Given the description of an element on the screen output the (x, y) to click on. 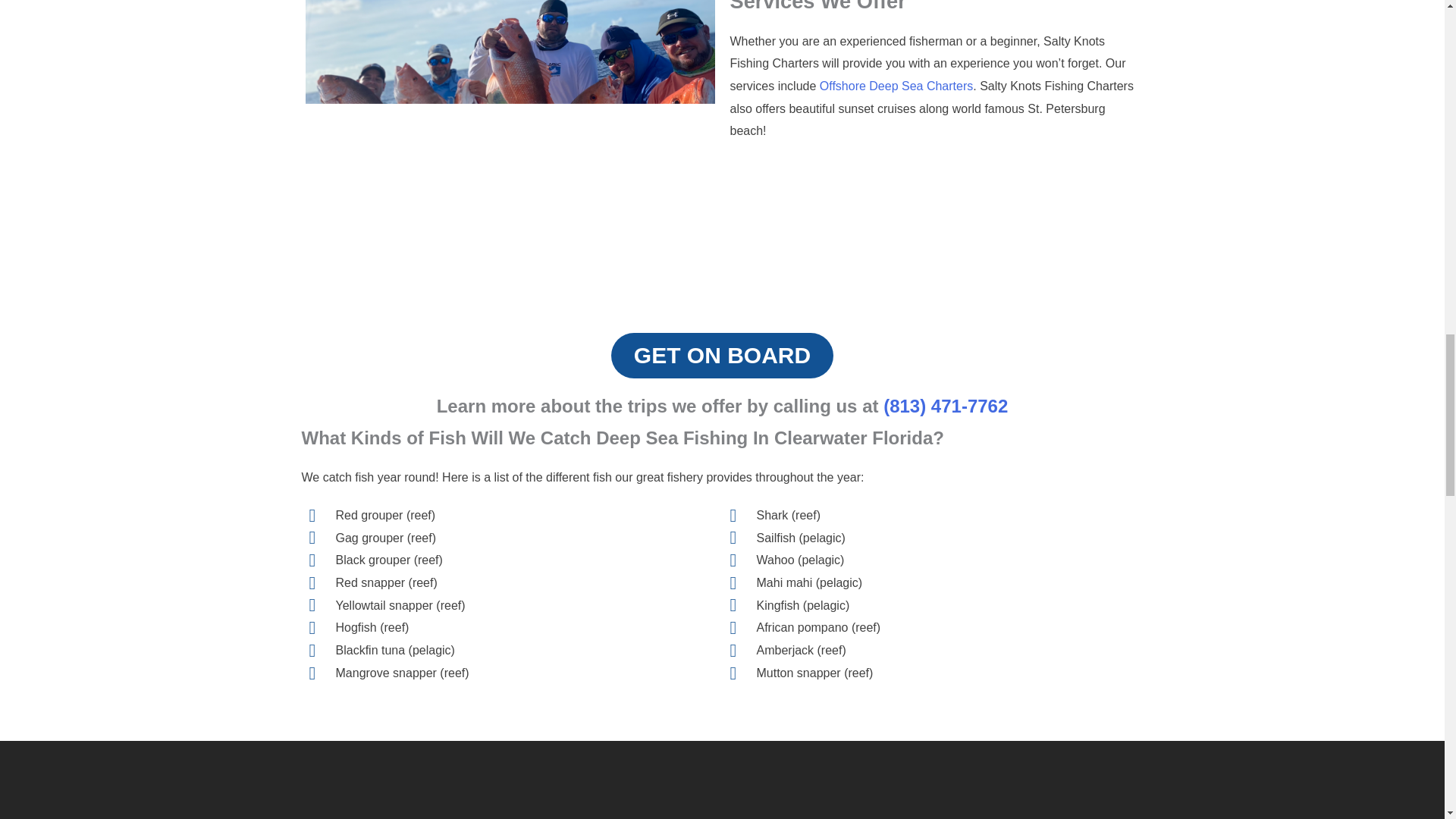
GET ON BOARD (721, 355)
Offshore Deep Sea Charters (895, 85)
